Given the description of an element on the screen output the (x, y) to click on. 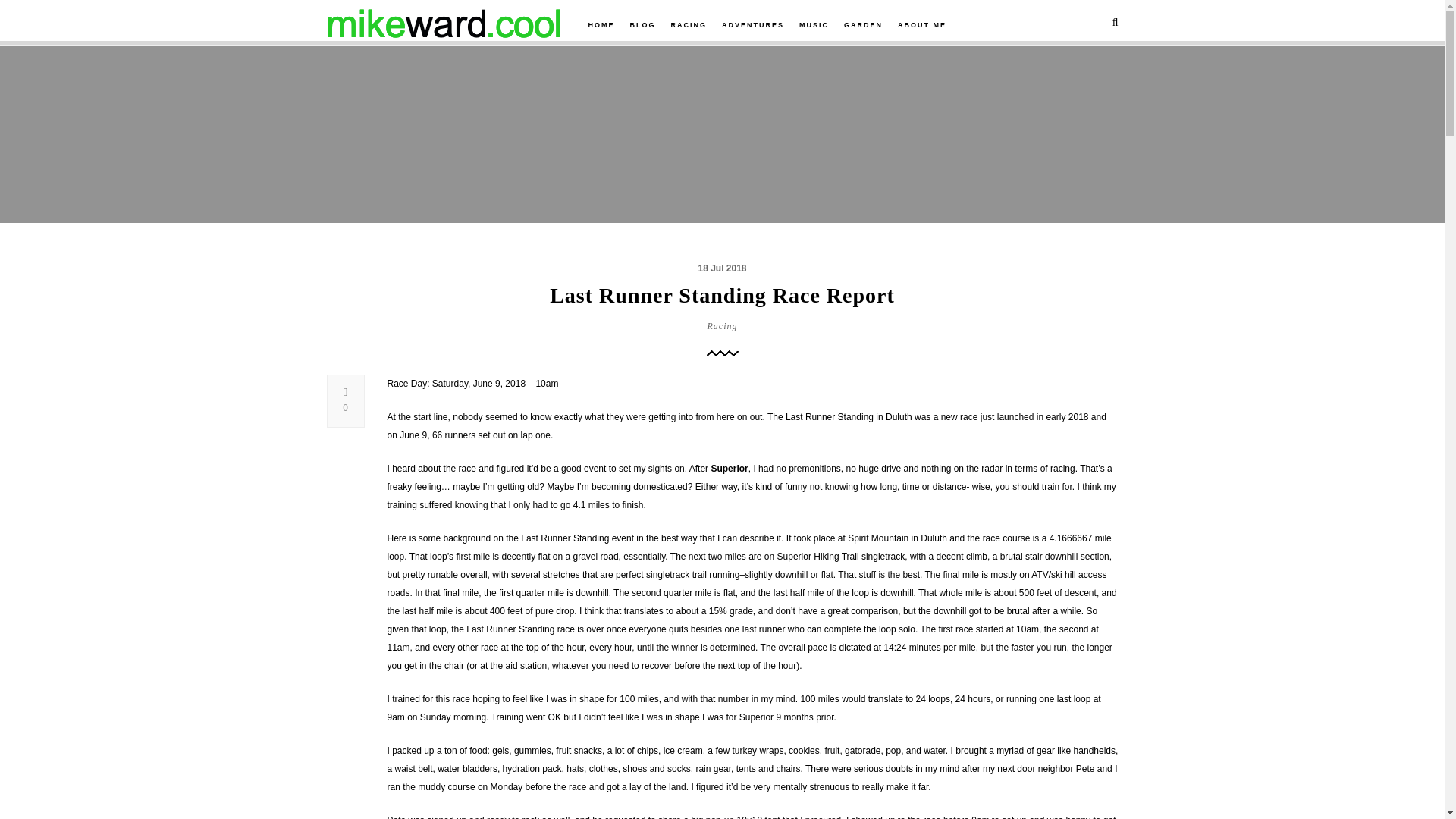
MUSIC (813, 24)
BLOG (642, 24)
GARDEN (863, 24)
ADVENTURES (752, 24)
Racing (721, 325)
HOME (600, 24)
Superior (729, 468)
ABOUT ME (921, 24)
RACING (688, 24)
